Given the description of an element on the screen output the (x, y) to click on. 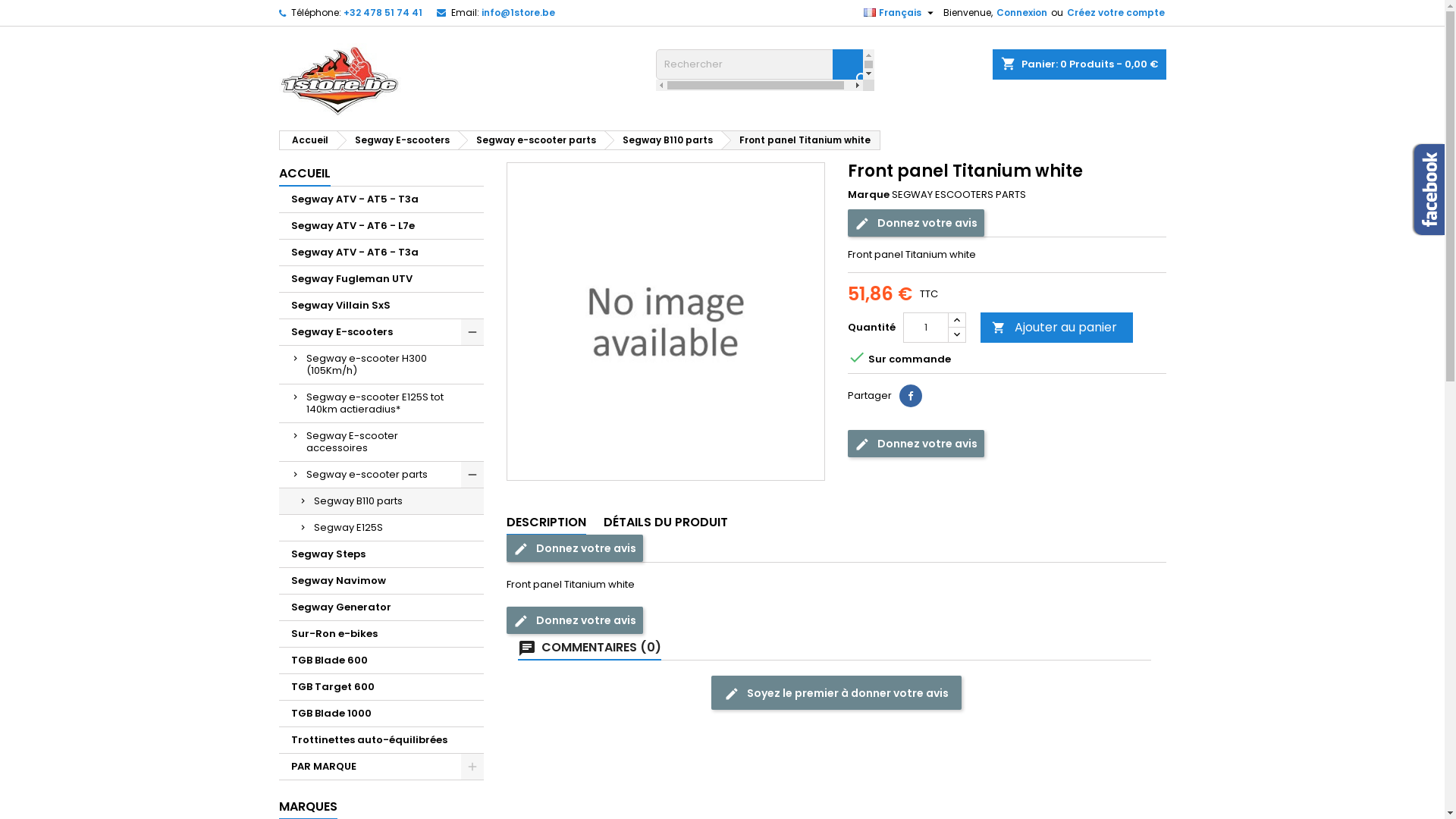
Segway E-scooters Element type: text (397, 140)
Donnez votre avis Element type: text (915, 222)
Segway Villain SxS Element type: text (381, 305)
Segway ATV - AT6 - T3a Element type: text (381, 252)
Sur-Ron e-bikes Element type: text (381, 634)
Segway ATV - AT5 - T3a Element type: text (381, 199)
Segway E-scooters Element type: text (381, 332)
Segway ATV - AT6 - L7e Element type: text (381, 226)
TGB Target 600 Element type: text (381, 687)
Segway Fugleman UTV Element type: text (381, 279)
Segway B110 parts Element type: text (662, 140)
Segway e-scooter H300 (105Km/h) Element type: text (381, 364)
TGB Blade 1000 Element type: text (381, 713)
Segway e-scooter parts Element type: text (381, 474)
DESCRIPTION Element type: text (546, 523)
Segway E125S Element type: text (381, 527)
ACCUEIL Element type: text (304, 174)
Donnez votre avis Element type: text (574, 547)
Segway B110 parts Element type: text (381, 501)
Donnez votre avis Element type: text (574, 619)
Partager Element type: hover (910, 395)
Segway Navimow Element type: text (381, 580)
Segway e-scooter parts Element type: text (531, 140)
Segway E-scooter accessoires Element type: text (381, 442)
PAR MARQUE Element type: text (381, 766)
Front panel Titanium white Element type: text (799, 140)
+32 478 51 74 41 Element type: text (381, 12)
Segway Steps Element type: text (381, 554)
SEGWAY ESCOOTERS PARTS Element type: text (958, 194)
Accueil Element type: text (307, 140)
TGB Blade 600 Element type: text (381, 660)
Donnez votre avis Element type: text (915, 443)
Segway Generator Element type: text (381, 607)
Segway e-scooter E125S tot 140km actieradius* Element type: text (381, 403)
Connexion Element type: text (1021, 12)
info@1store.be Element type: text (517, 12)
